Given the description of an element on the screen output the (x, y) to click on. 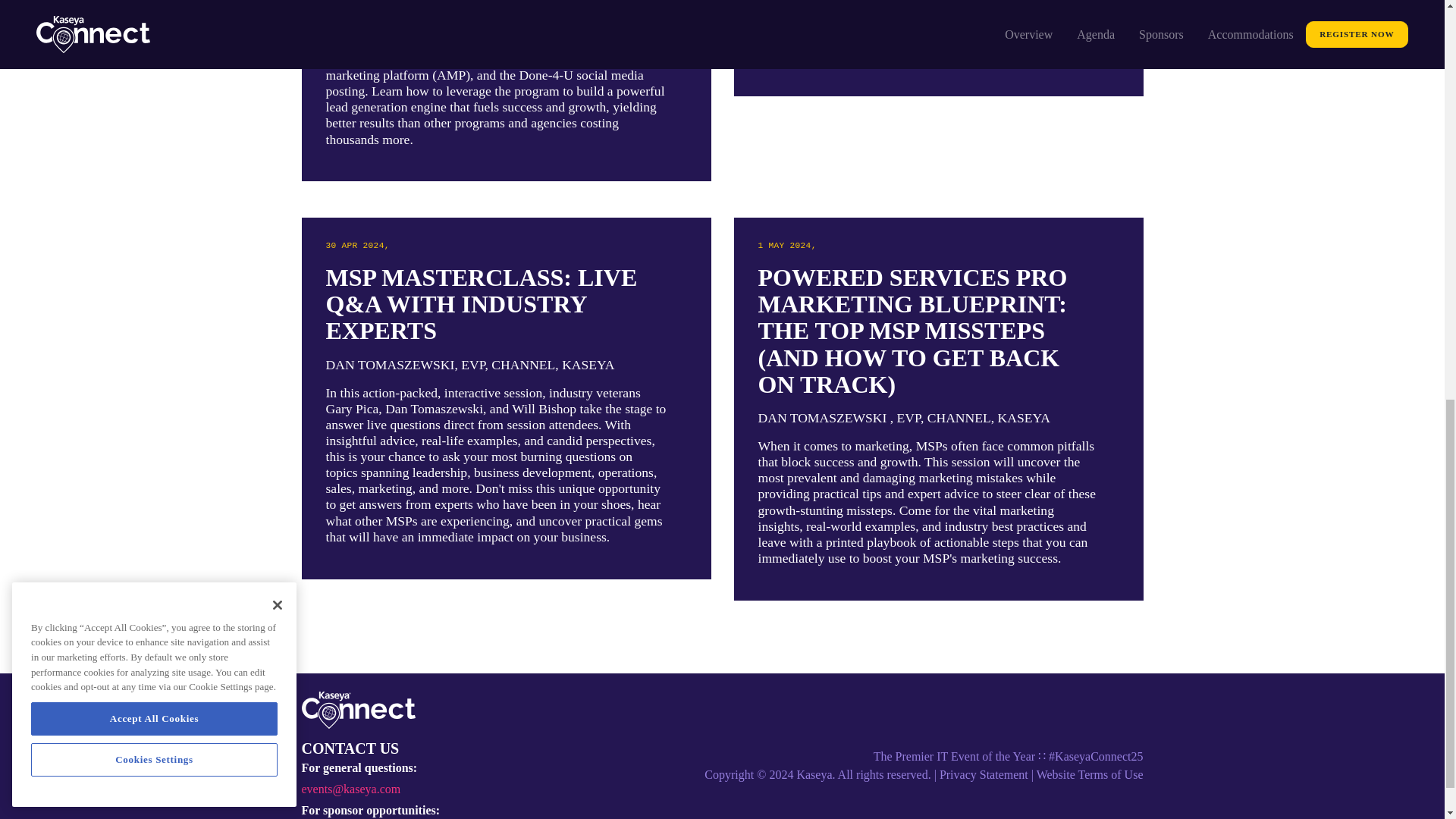
Privacy Statement (983, 774)
Website Terms of Use (1089, 774)
